Given the description of an element on the screen output the (x, y) to click on. 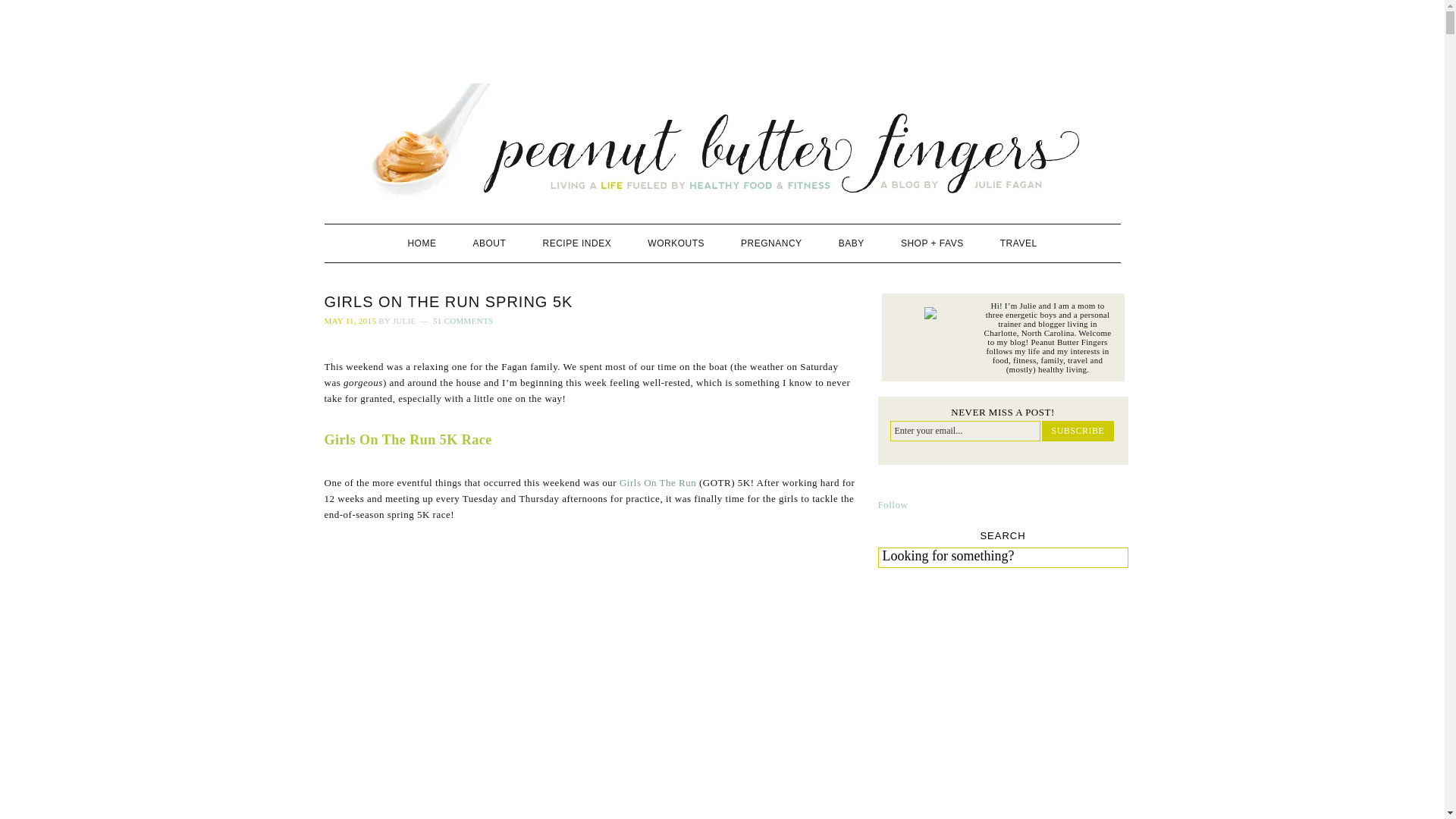
WORKOUTS (675, 243)
TRAVEL (1019, 243)
BABY (851, 243)
PEANUT BUTTER FINGERS (722, 141)
PREGNANCY (770, 243)
SUBSCRIBE (1078, 430)
HOME (421, 243)
RECIPE INDEX (576, 243)
ABOUT (489, 243)
